Given the description of an element on the screen output the (x, y) to click on. 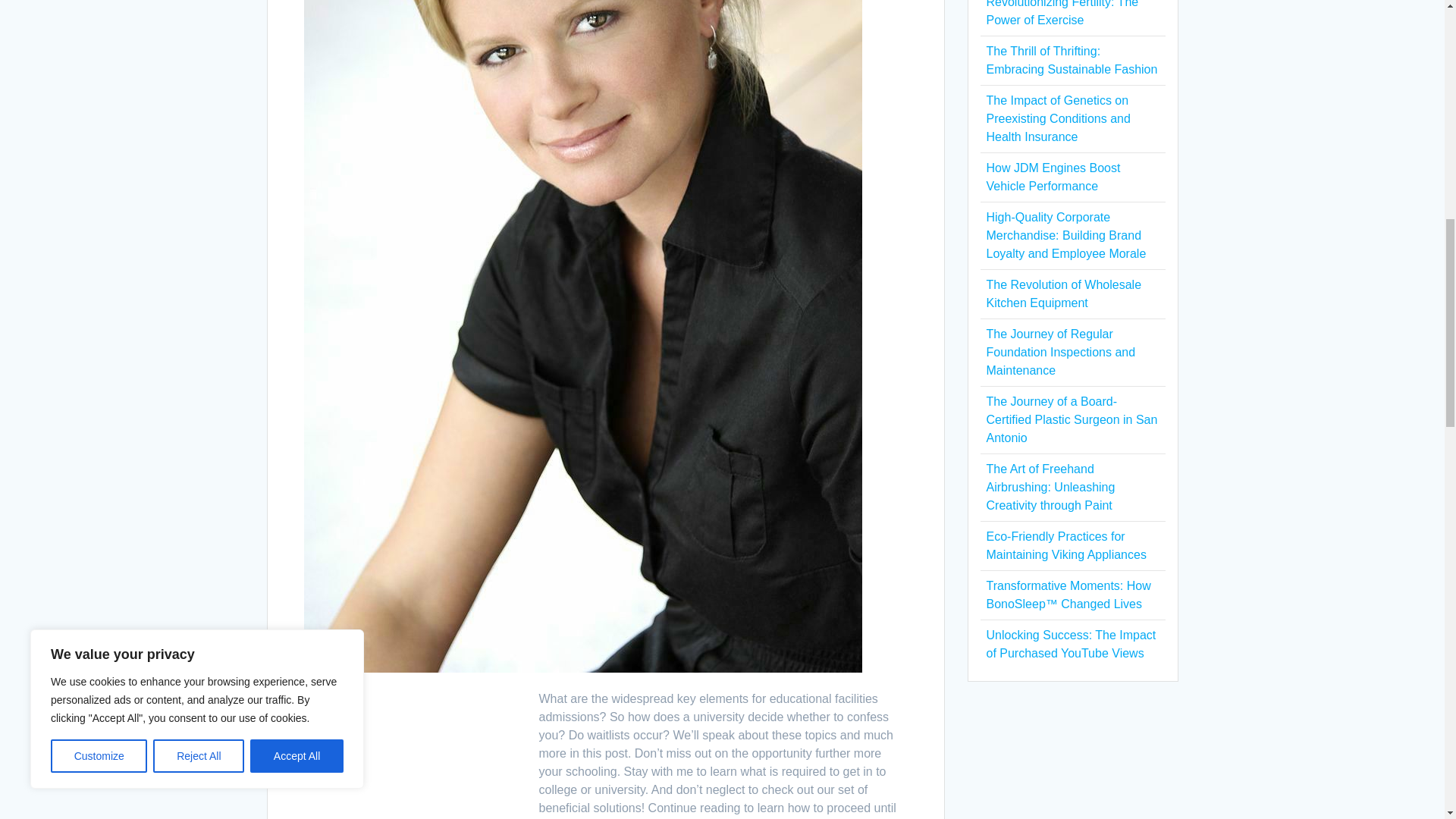
The Thrill of Thrifting: Embracing Sustainable Fashion (1071, 60)
Revolutionizing Fertility: The Power of Exercise (1061, 13)
